Given the description of an element on the screen output the (x, y) to click on. 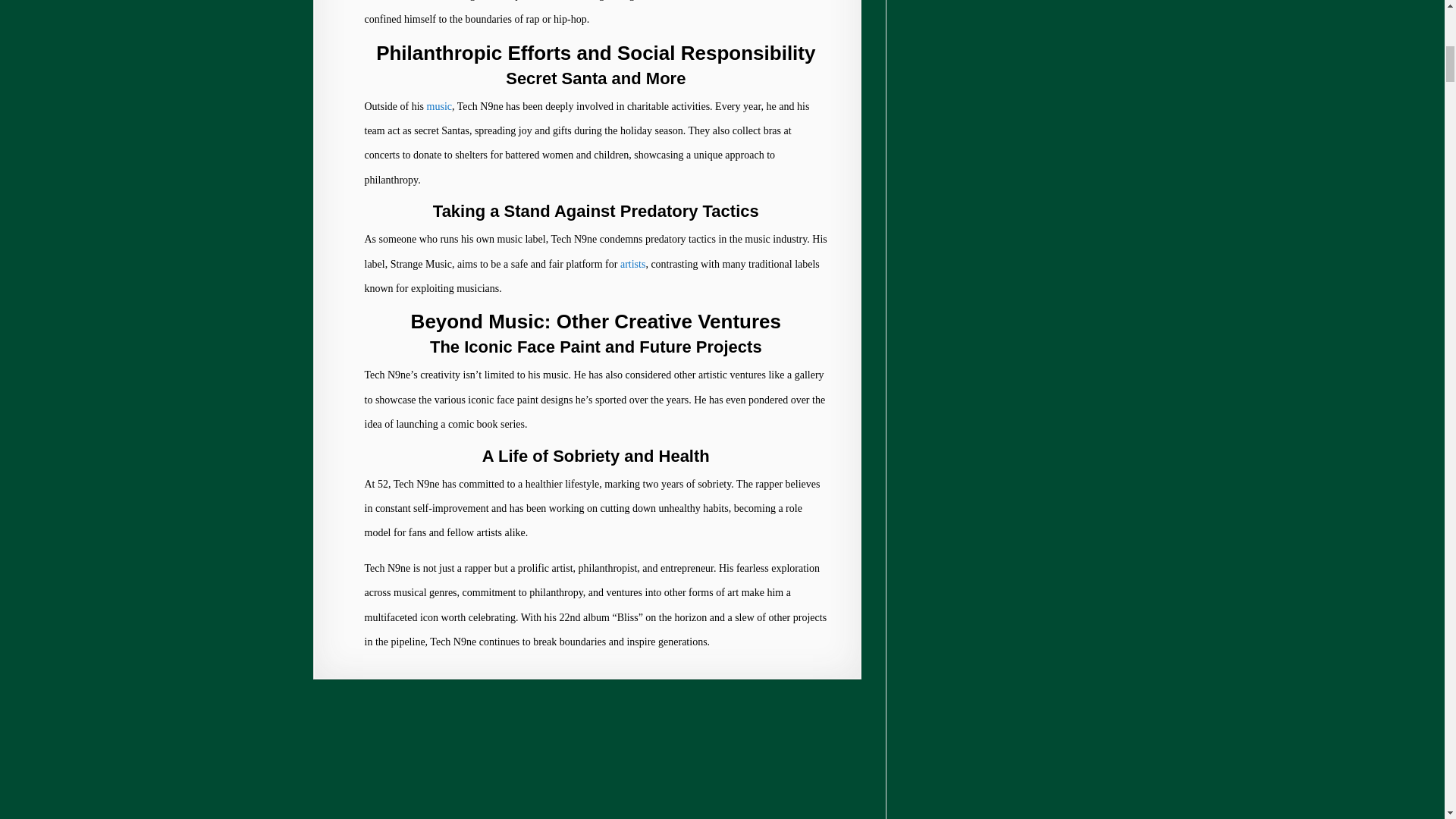
artists (632, 264)
music (438, 106)
